Given the description of an element on the screen output the (x, y) to click on. 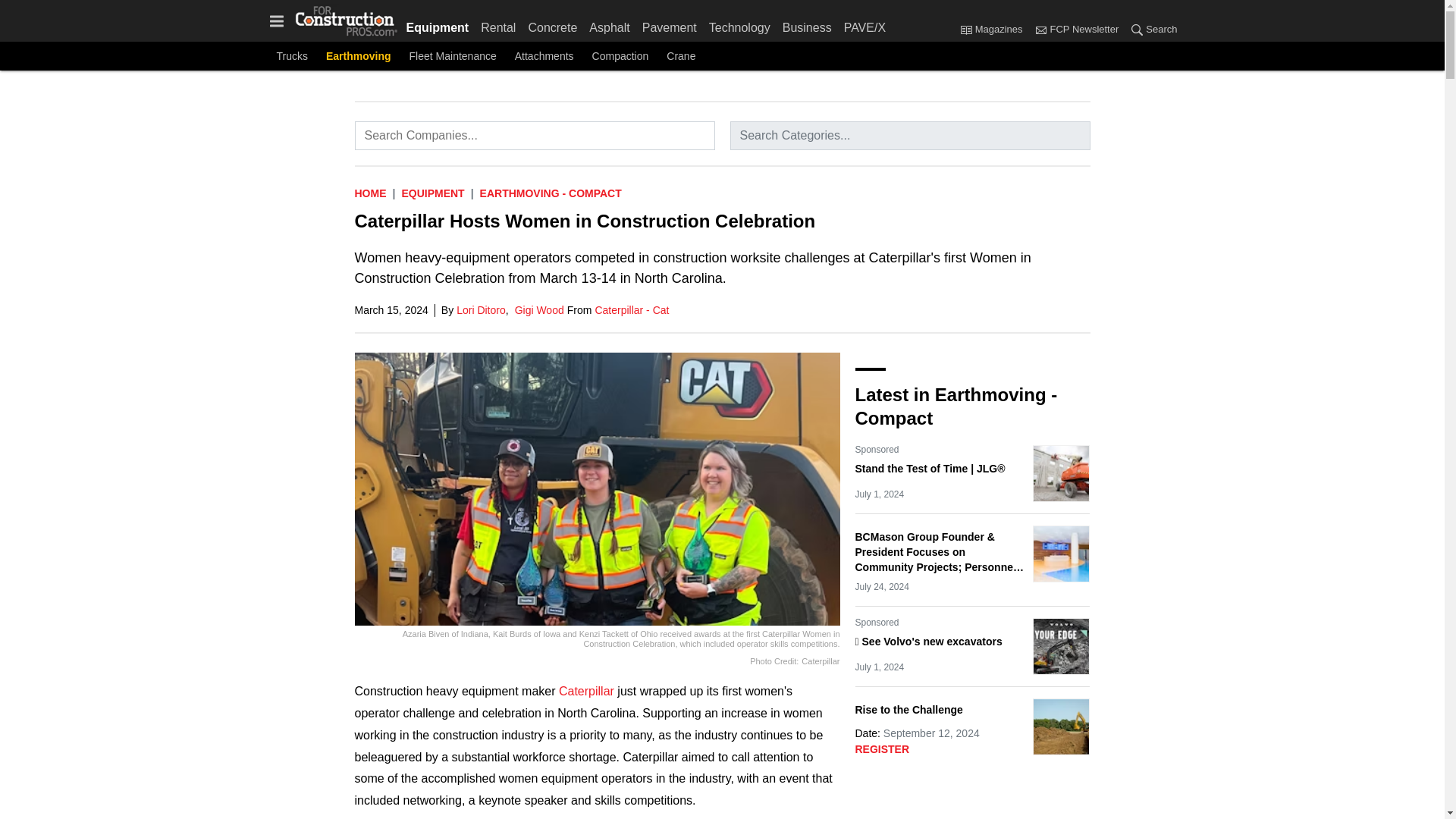
Home (371, 193)
Crane (680, 55)
Trucks (291, 55)
Search (1150, 29)
Earthmoving (358, 55)
Rental (497, 24)
Equipment (432, 193)
FCP Newsletter (1075, 29)
Pavement (669, 24)
Technology (739, 24)
Search (1136, 29)
Earthmoving - Compact (550, 193)
Fleet Maintenance (452, 55)
Asphalt (608, 24)
Sponsored (877, 449)
